Given the description of an element on the screen output the (x, y) to click on. 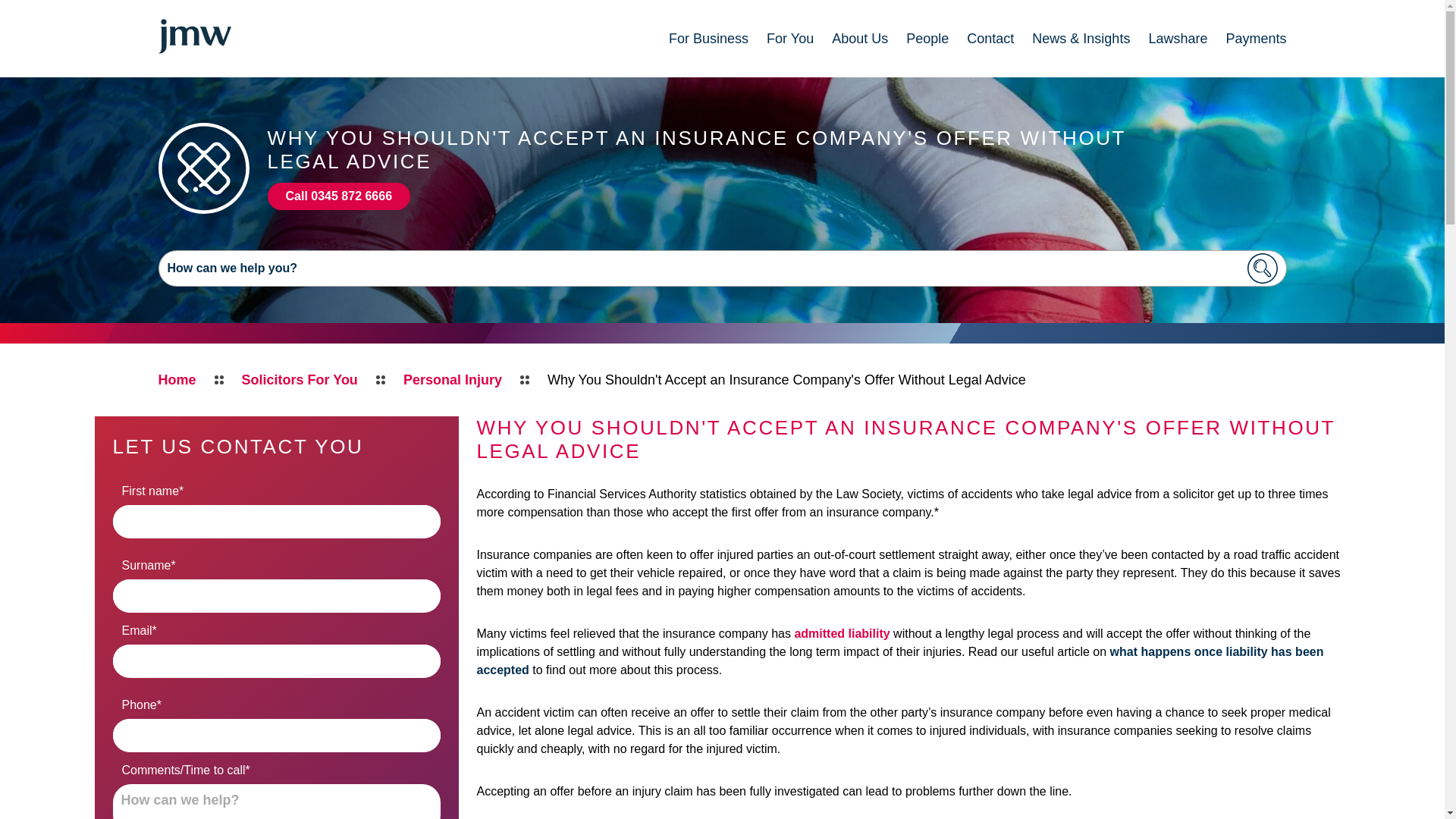
Home (176, 380)
Call 0345 872 6666 (338, 195)
Lawshare (1177, 38)
admitted liability (841, 633)
Payments (1255, 38)
For Business (708, 38)
People (927, 38)
About Us (859, 38)
Submit the search query (1261, 268)
Solicitors For You (299, 380)
